Given the description of an element on the screen output the (x, y) to click on. 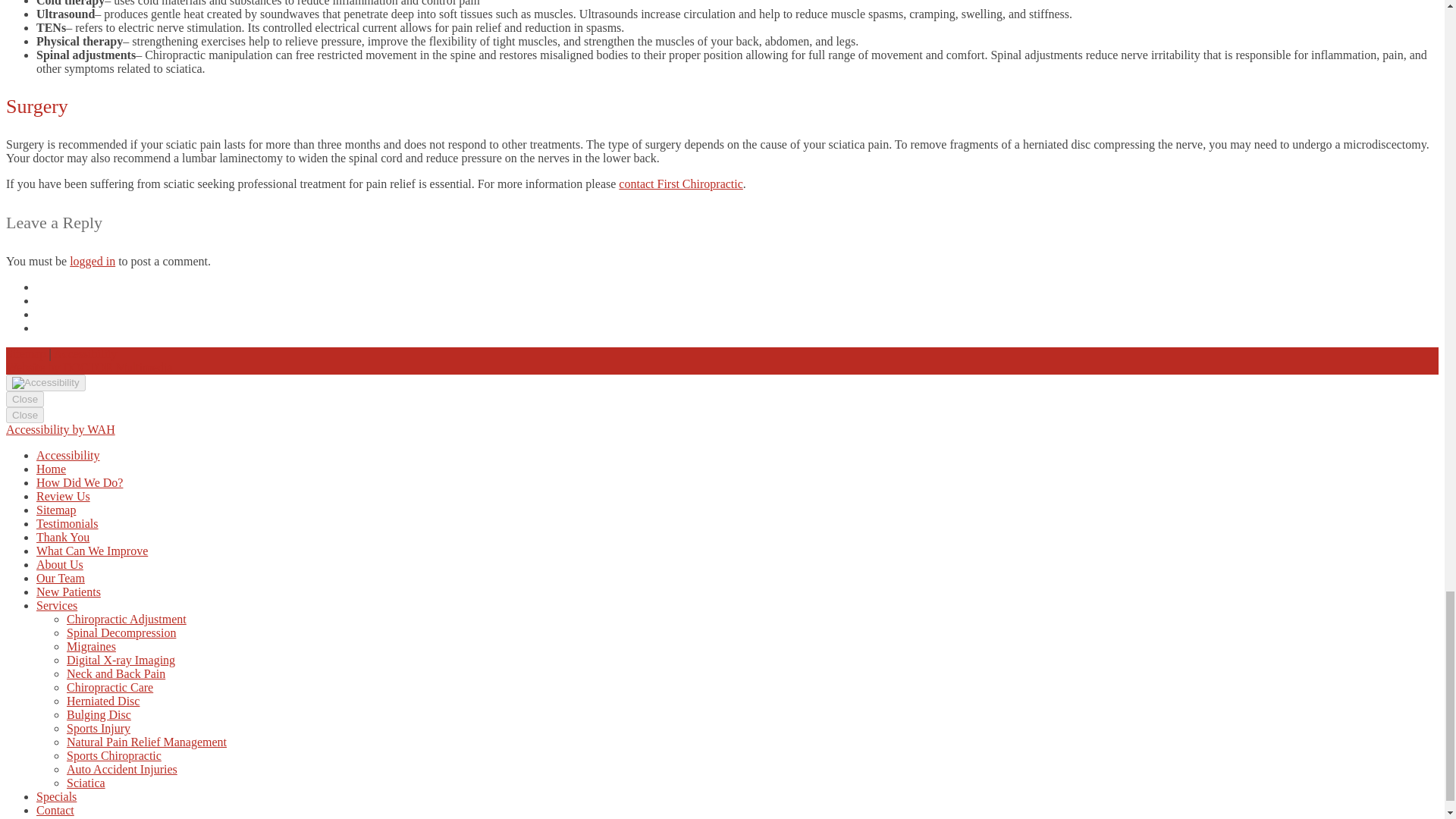
logged in (92, 260)
Accessibility Helper sidebar (45, 382)
Close sidebar (24, 415)
contact First Chiropractic (680, 183)
Close (24, 399)
Accessibility by WP Accessibility Helper Team (60, 429)
